Given the description of an element on the screen output the (x, y) to click on. 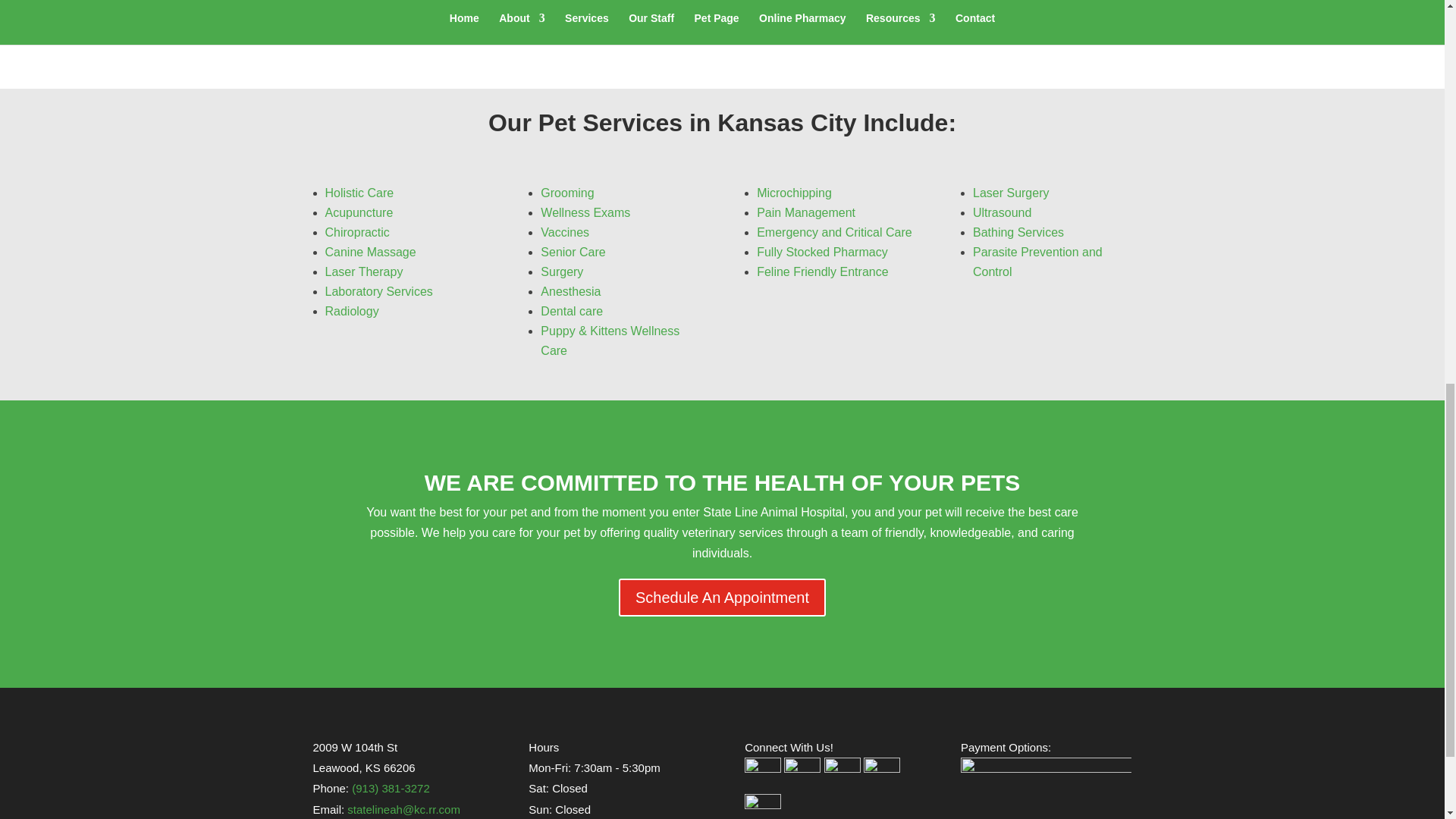
Ultrasound (1001, 212)
Emergency and Critical Care (834, 232)
Bathing Services (1018, 232)
Senior Care (572, 251)
Vaccines (564, 232)
Surgery (561, 271)
Parasite Prevention and Control (1037, 261)
Schedule An Appointment (721, 597)
Pain Management (806, 212)
Canine Massage (369, 251)
Dental care (571, 310)
Fully Stocked Pharmacy (822, 251)
Laser Surgery (1010, 192)
Laboratory Services (378, 291)
Acupuncture (358, 212)
